Given the description of an element on the screen output the (x, y) to click on. 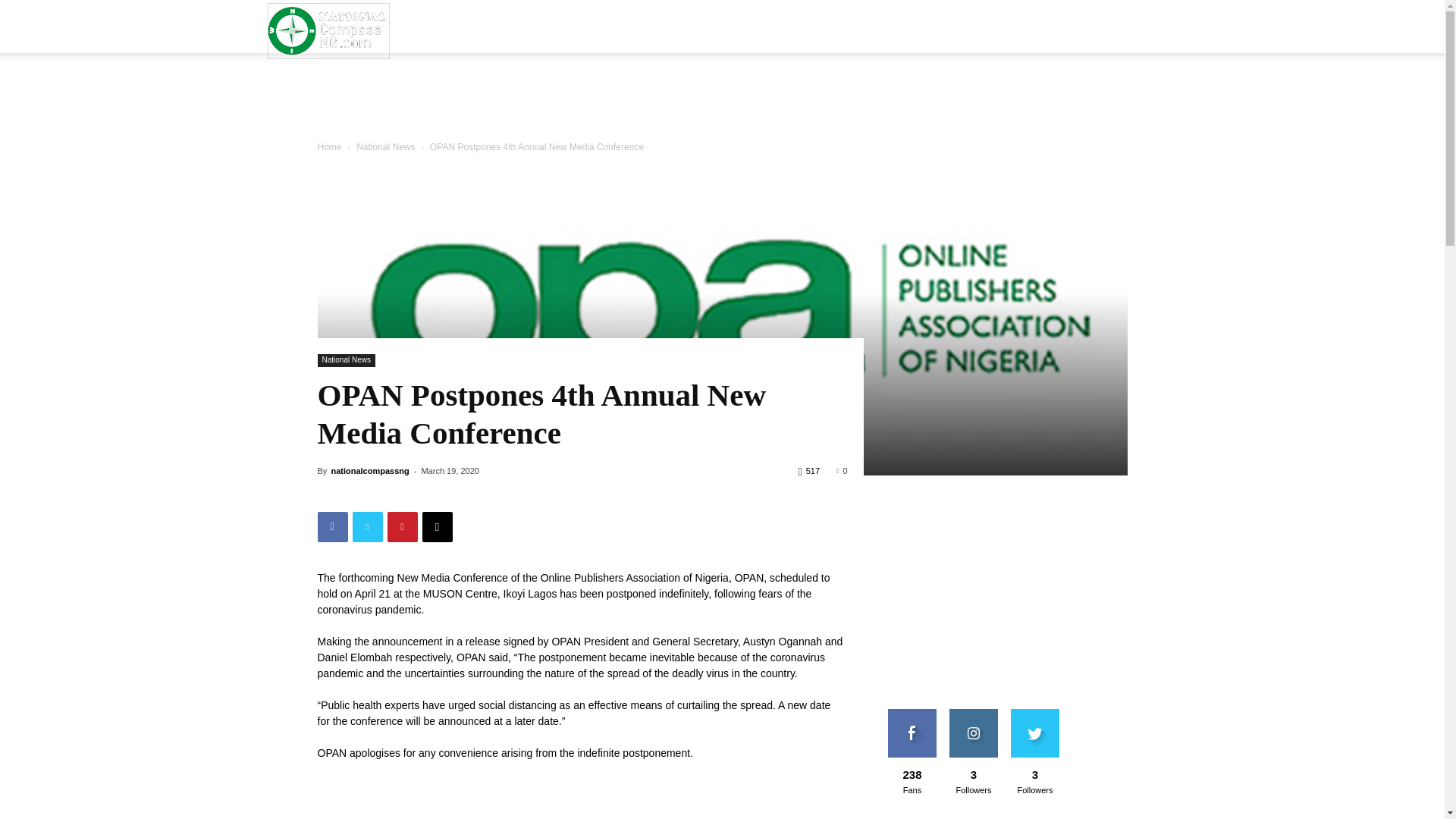
National Compass NG (328, 30)
LOCAL NEWS (496, 86)
